Given the description of an element on the screen output the (x, y) to click on. 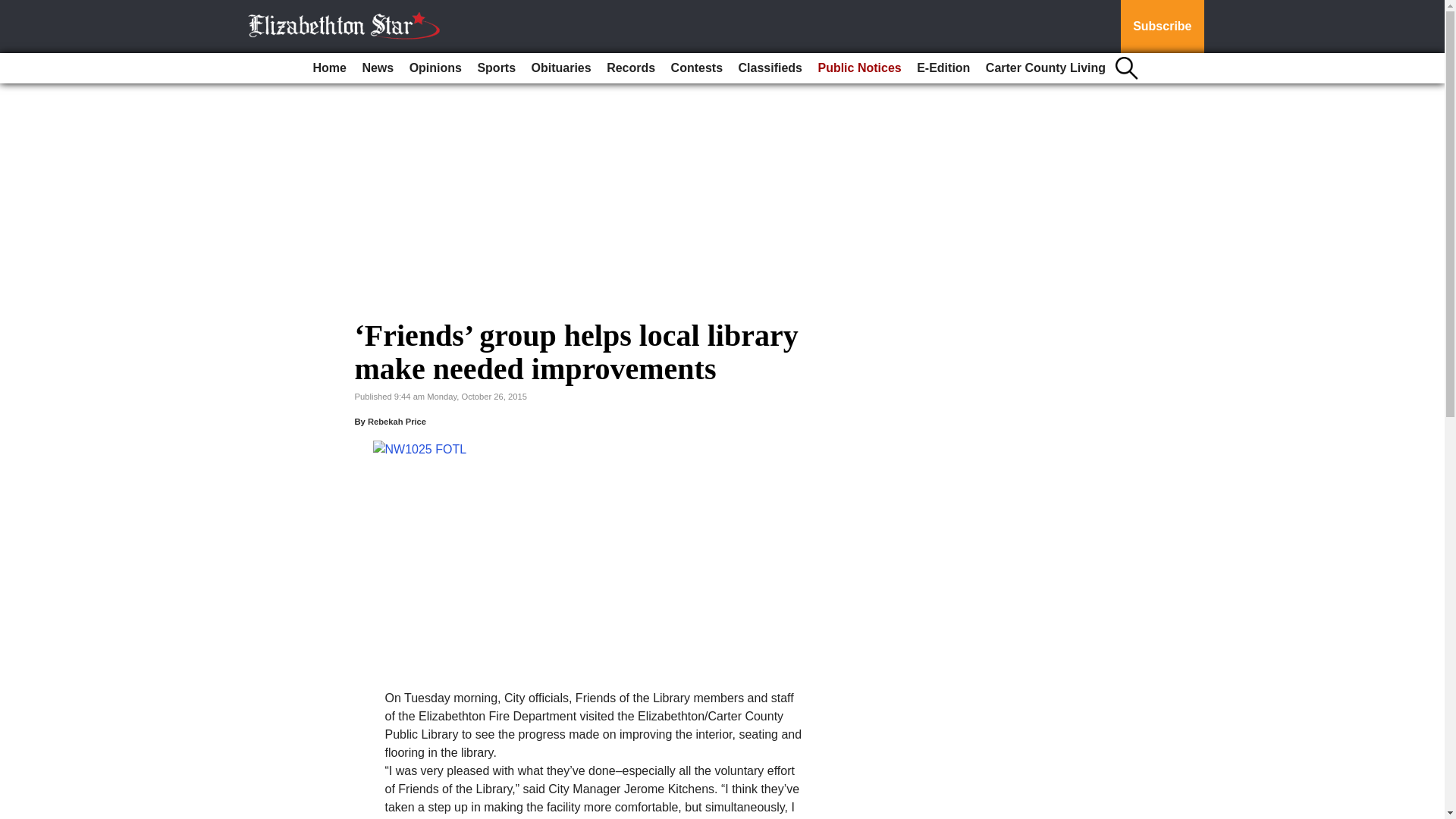
Rebekah Price (397, 420)
Obituaries (560, 68)
Classifieds (770, 68)
Records (630, 68)
News (376, 68)
Opinions (435, 68)
Contests (697, 68)
Carter County Living (1045, 68)
Subscribe (1162, 26)
E-Edition (943, 68)
Go (13, 9)
Sports (495, 68)
Home (328, 68)
Public Notices (858, 68)
